Given the description of an element on the screen output the (x, y) to click on. 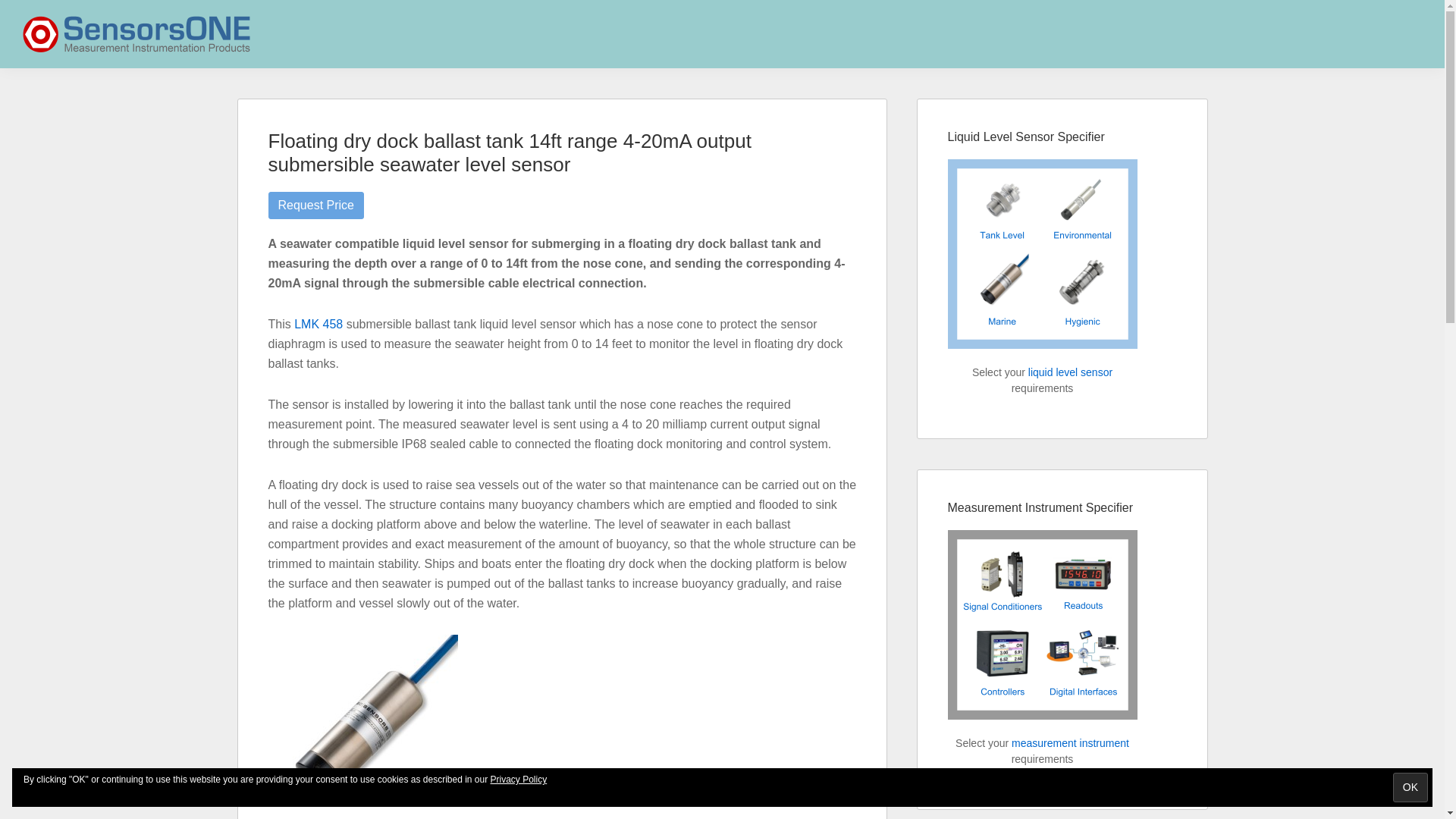
Privacy Policy (518, 778)
measurement instrument (1070, 743)
Measurement Instrument Specifier (1042, 624)
OK (1410, 787)
Request Price (316, 205)
LMK 458 (318, 323)
OK (1410, 787)
liquid level sensor (1069, 372)
Liquid Level Sensor Specifier (1042, 253)
